Given the description of an element on the screen output the (x, y) to click on. 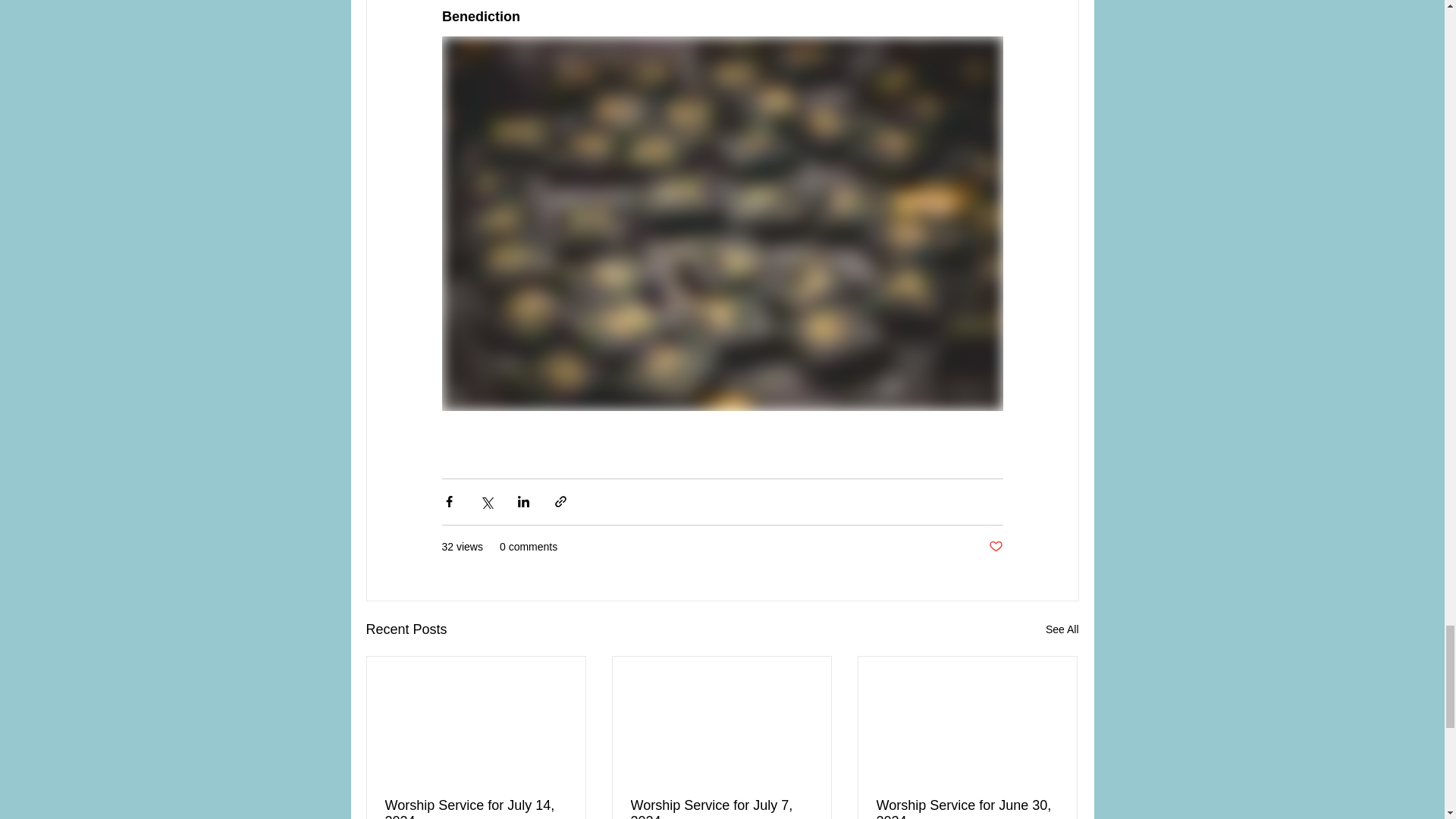
Post not marked as liked (995, 546)
Worship Service for July 14, 2024 (476, 808)
See All (1061, 629)
Worship Service for July 7, 2024 (721, 808)
Worship Service for June 30, 2024 (967, 808)
